Given the description of an element on the screen output the (x, y) to click on. 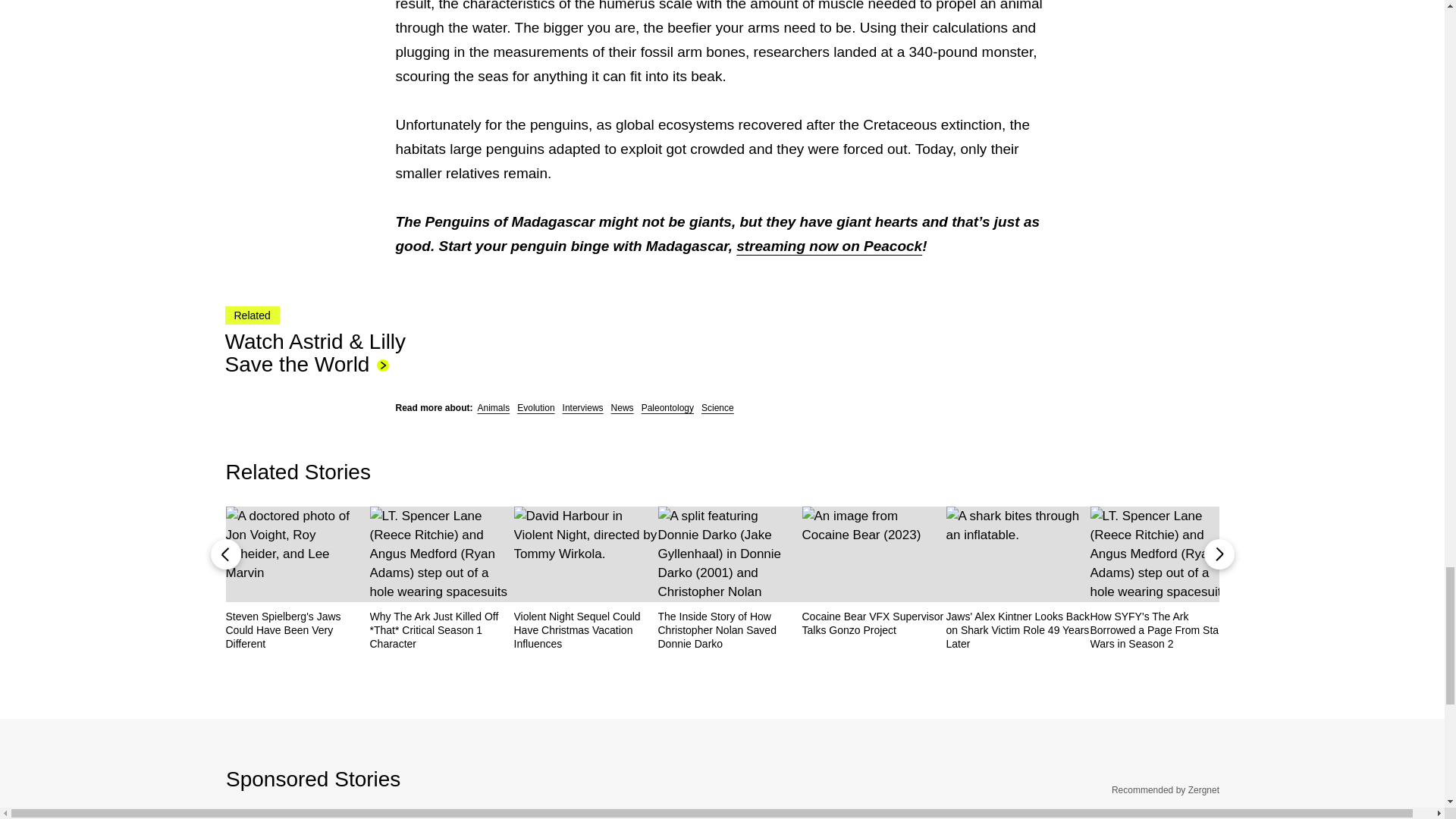
Evolution (535, 407)
Interviews (583, 407)
News (622, 407)
streaming now on Peacock (828, 245)
Paleontology (668, 407)
Animals (494, 407)
Science (717, 407)
